Given the description of an element on the screen output the (x, y) to click on. 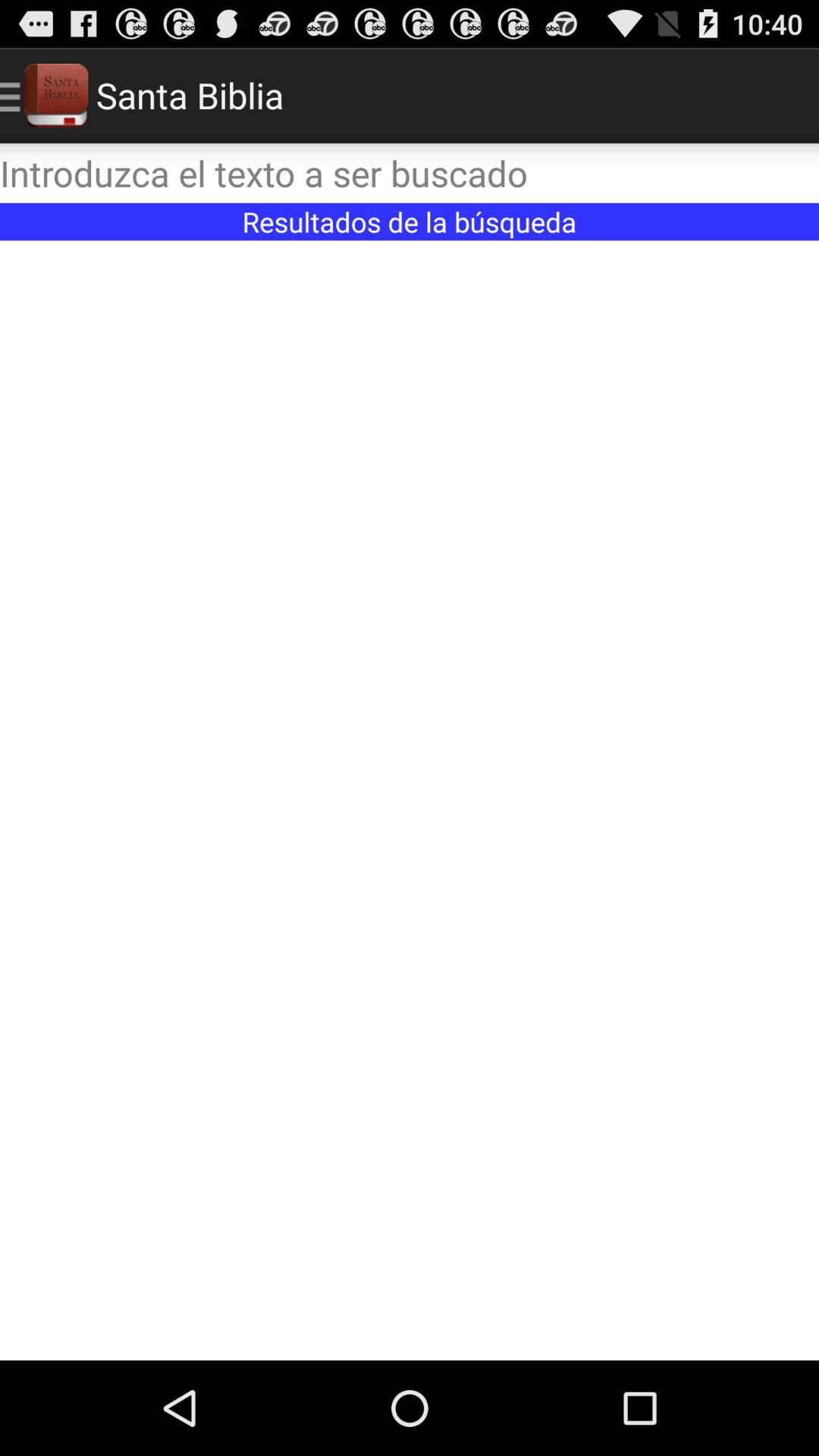
select area (409, 800)
